Given the description of an element on the screen output the (x, y) to click on. 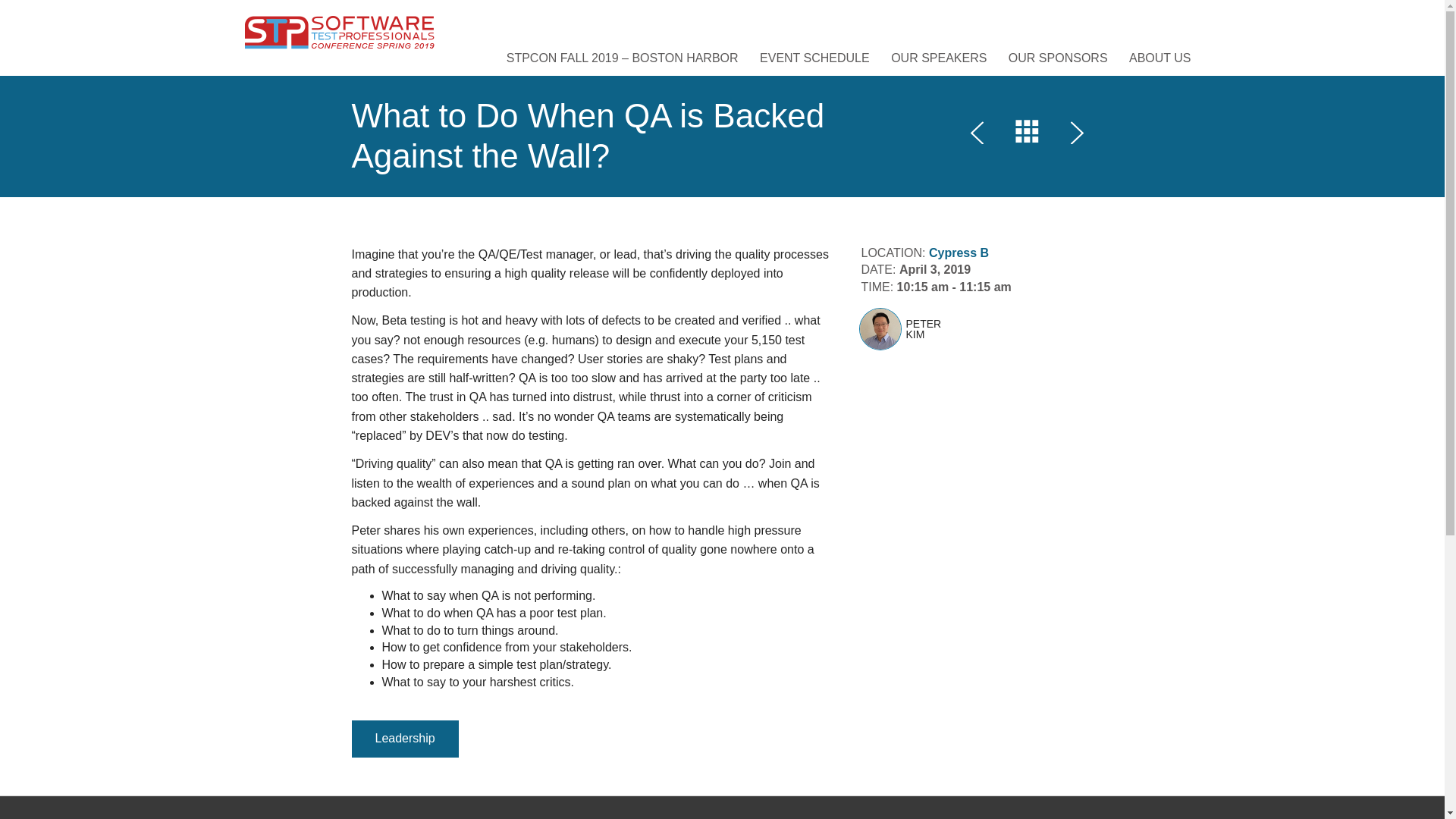
PETER KIM (964, 328)
OUR SPONSORS (1057, 58)
EVENT SCHEDULE (815, 58)
ABOUT US (1159, 58)
OUR SPEAKERS (938, 58)
STPCon Spring 2019 (338, 31)
Leadership (405, 738)
Peter Kim (880, 328)
